Given the description of an element on the screen output the (x, y) to click on. 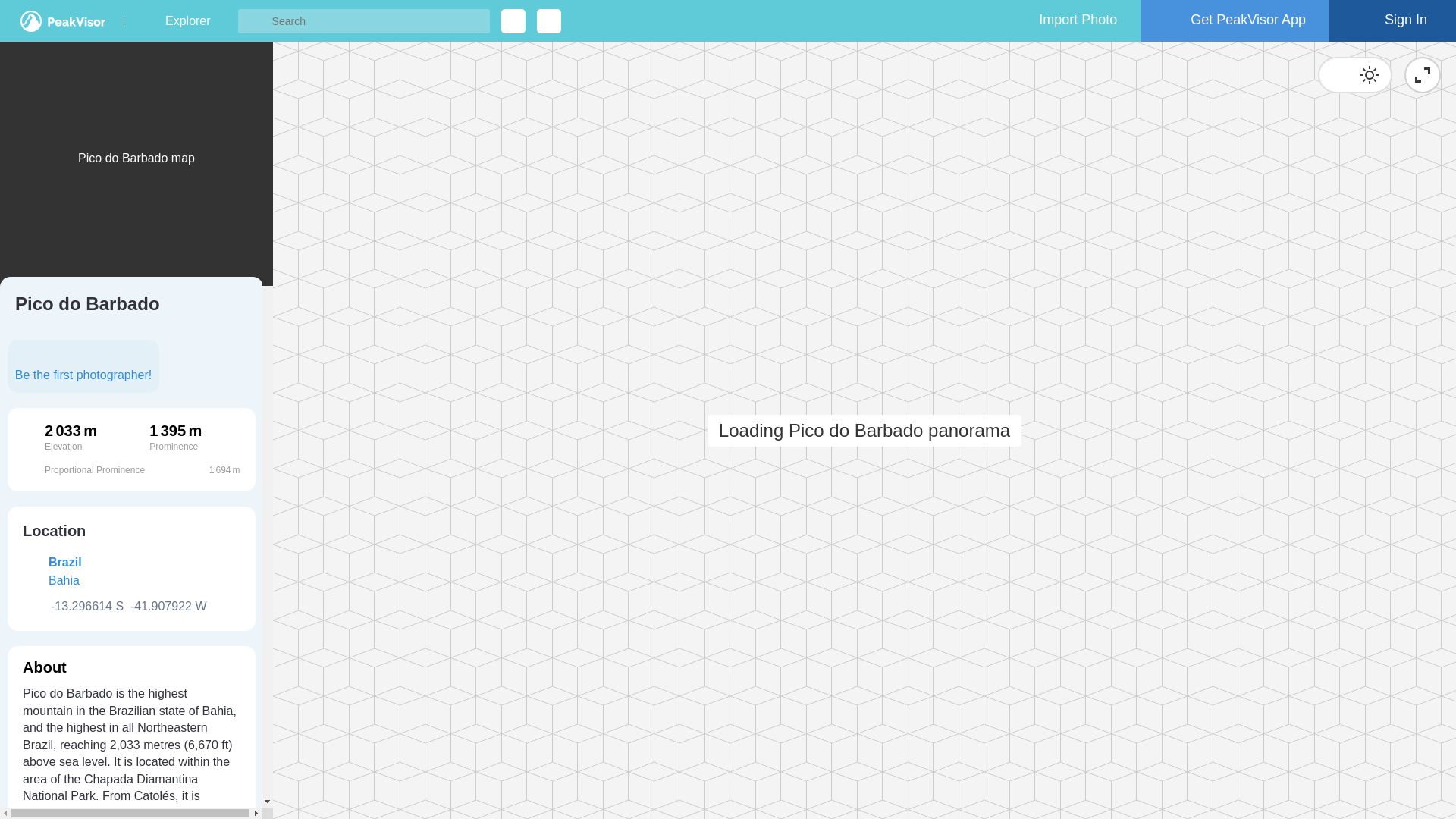
Bahia (64, 580)
Import Photo (1064, 20)
Explorer (186, 20)
Brazil (64, 562)
PeakVisor (62, 20)
